Given the description of an element on the screen output the (x, y) to click on. 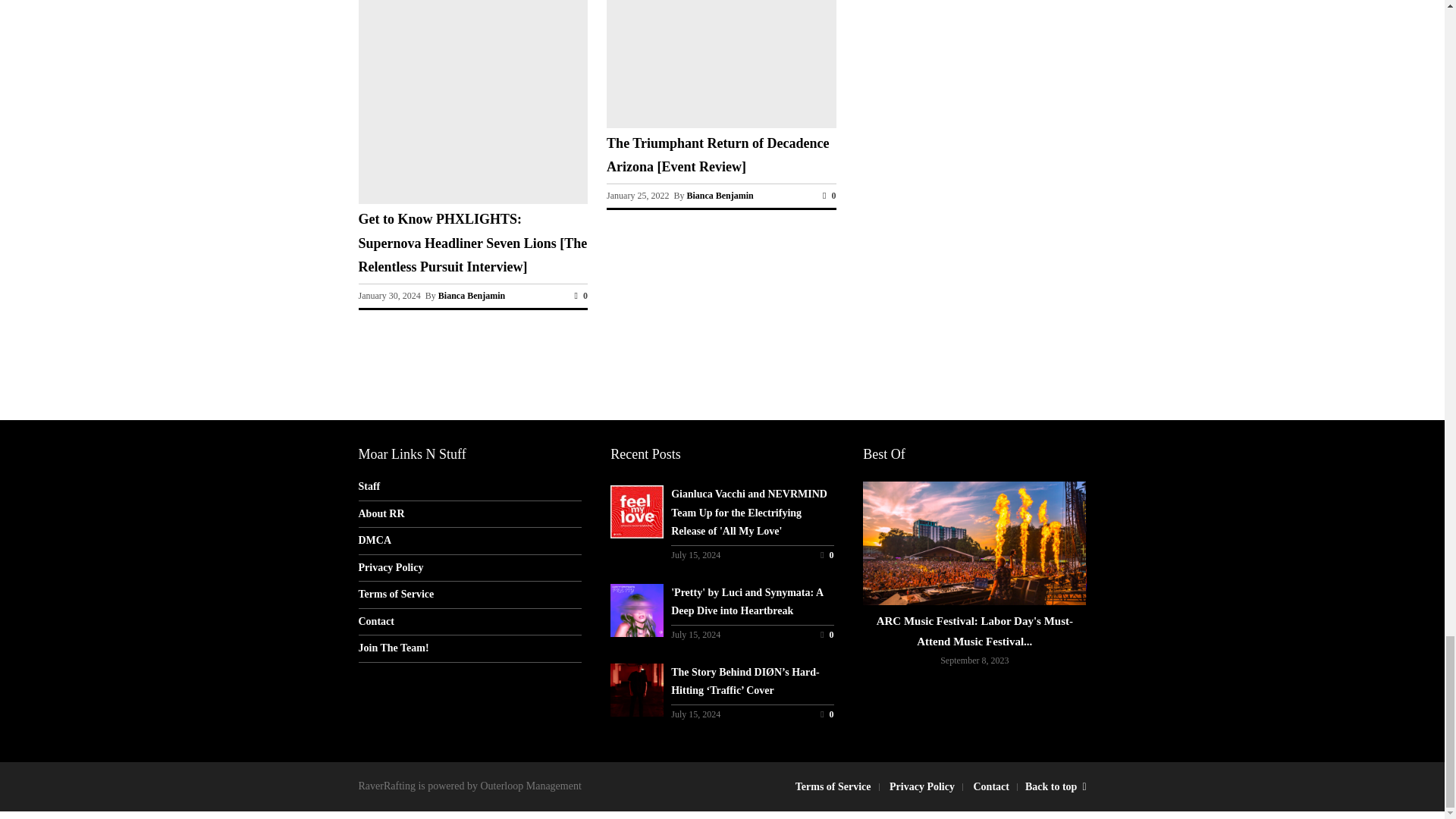
'Pretty' by Luci and Synymata: A Deep Dive into Heartbreak (826, 634)
